Given the description of an element on the screen output the (x, y) to click on. 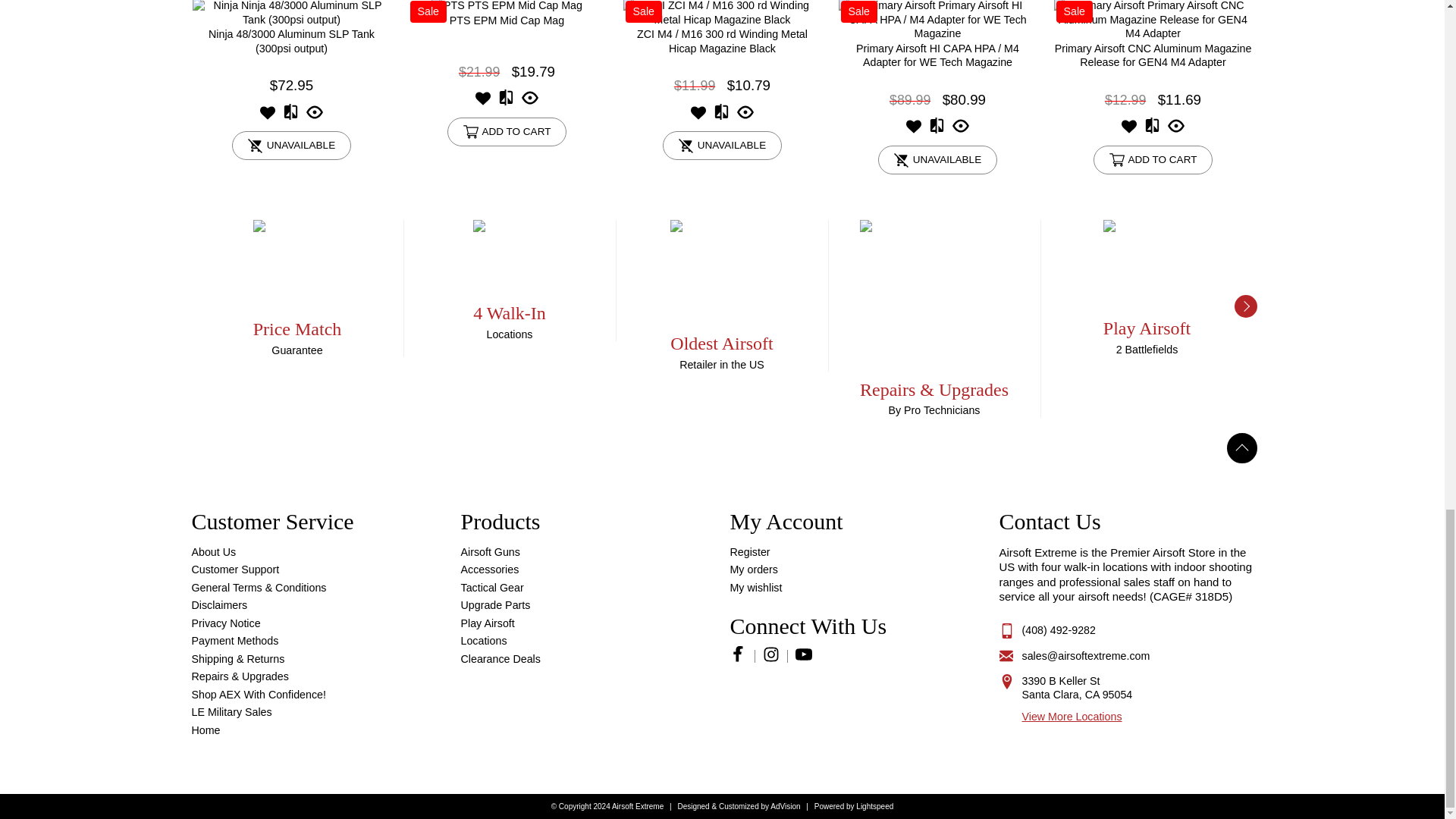
Quick view (314, 116)
Add to wishlist (483, 102)
Add to wishlist (913, 130)
Quick view (1176, 130)
Add to compare (721, 116)
Quick view (960, 130)
Add to compare (936, 130)
Add to compare (290, 116)
Add to compare (1151, 130)
Quick view (745, 116)
